Given the description of an element on the screen output the (x, y) to click on. 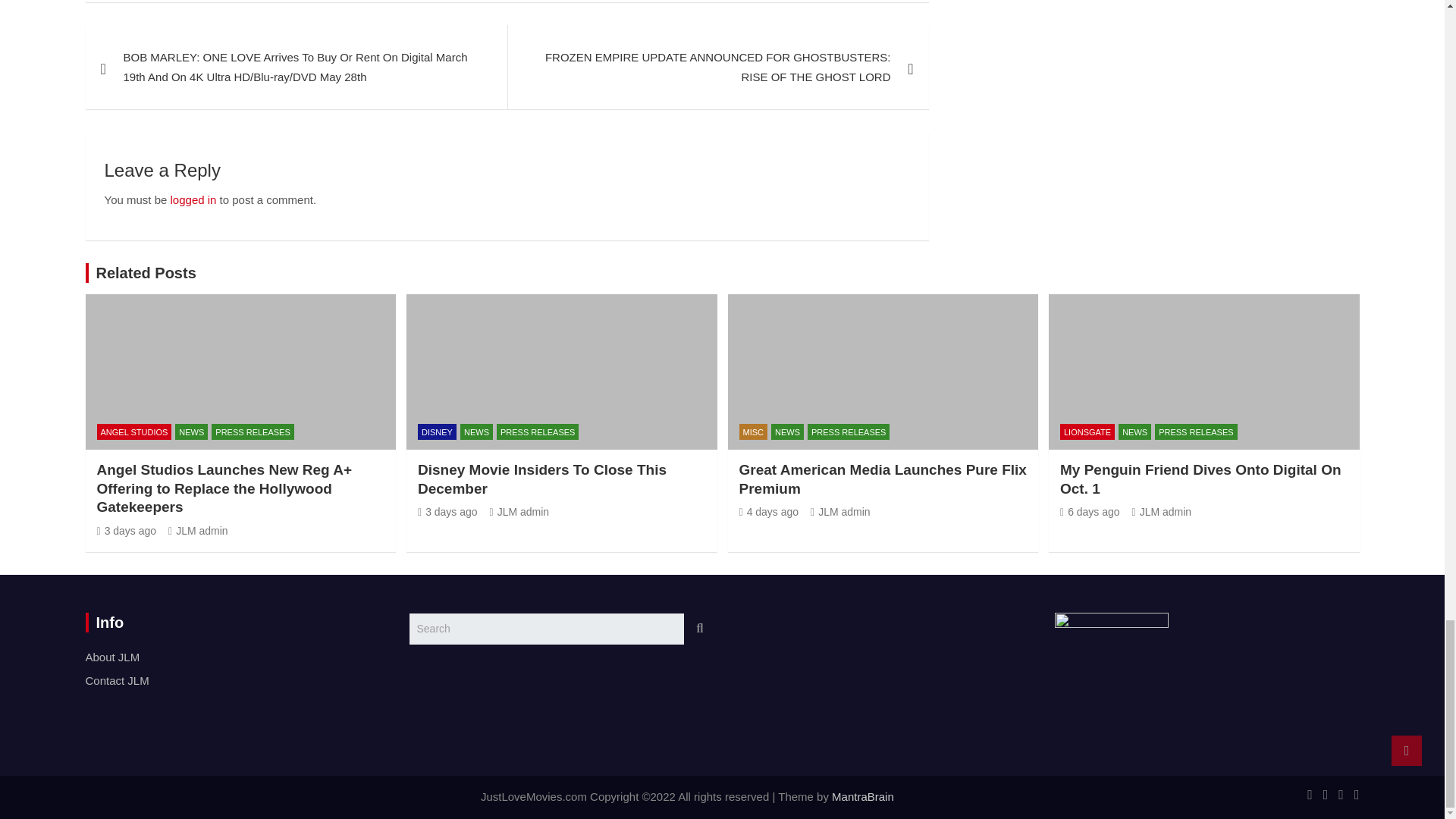
3 days ago (447, 511)
logged in (193, 199)
MantraBrain (862, 796)
4 days ago (767, 511)
6 days ago (1089, 511)
3 days ago (127, 530)
